Given the description of an element on the screen output the (x, y) to click on. 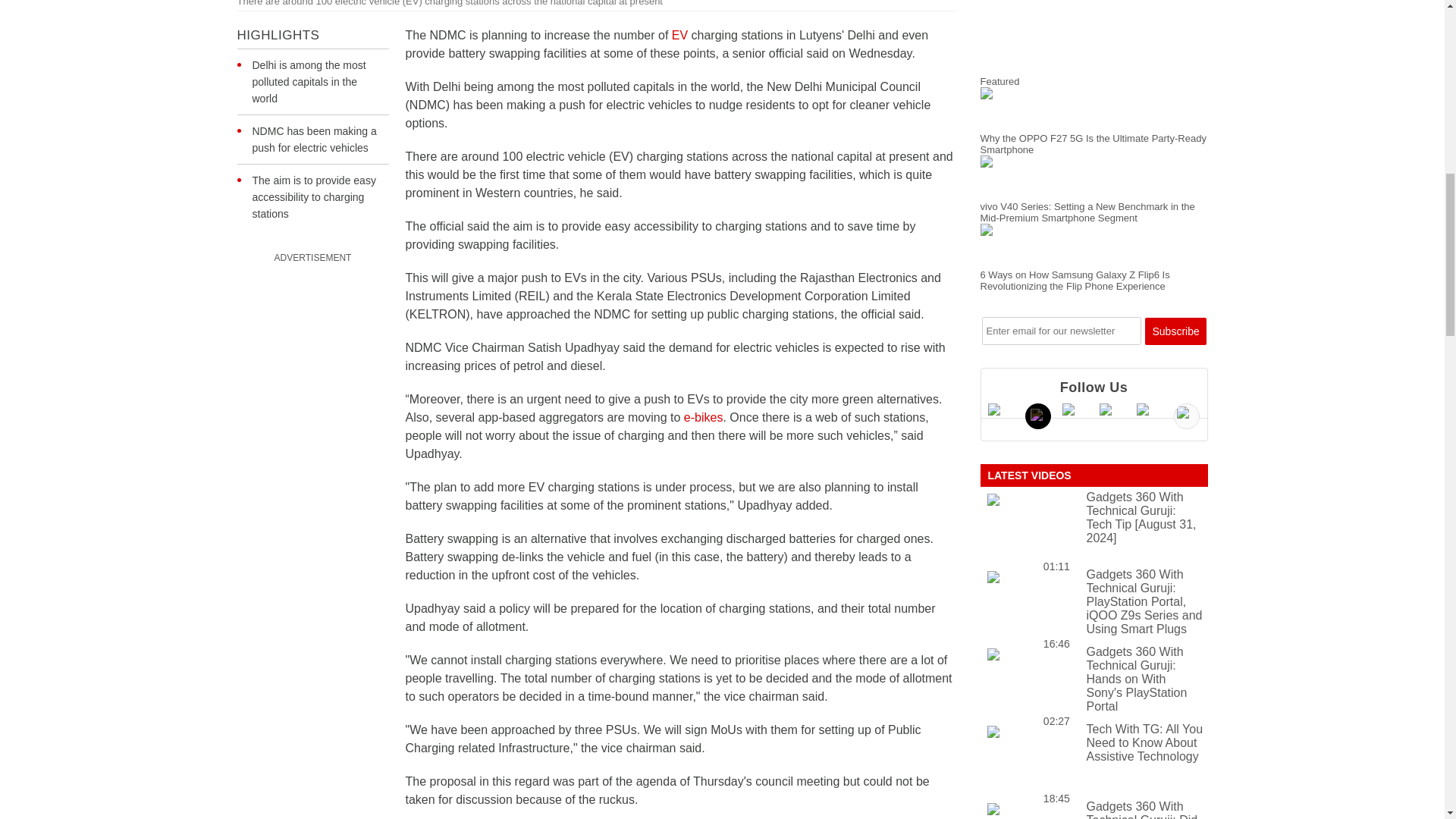
EV (679, 34)
Subscribe (1175, 329)
e-bikes (703, 417)
